Given the description of an element on the screen output the (x, y) to click on. 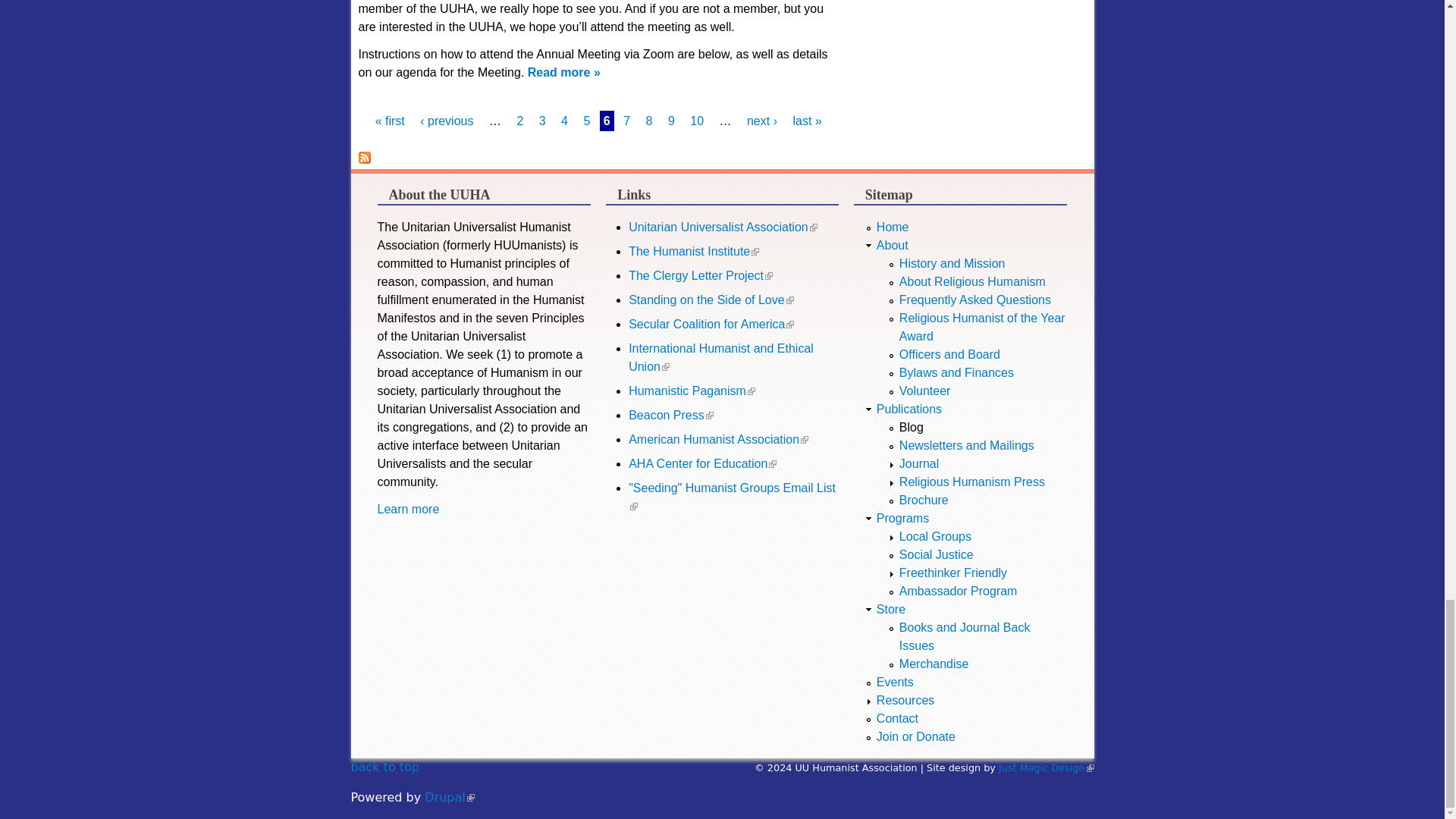
10 (696, 120)
Go to previous page (446, 120)
Go to first page (389, 120)
